Given the description of an element on the screen output the (x, y) to click on. 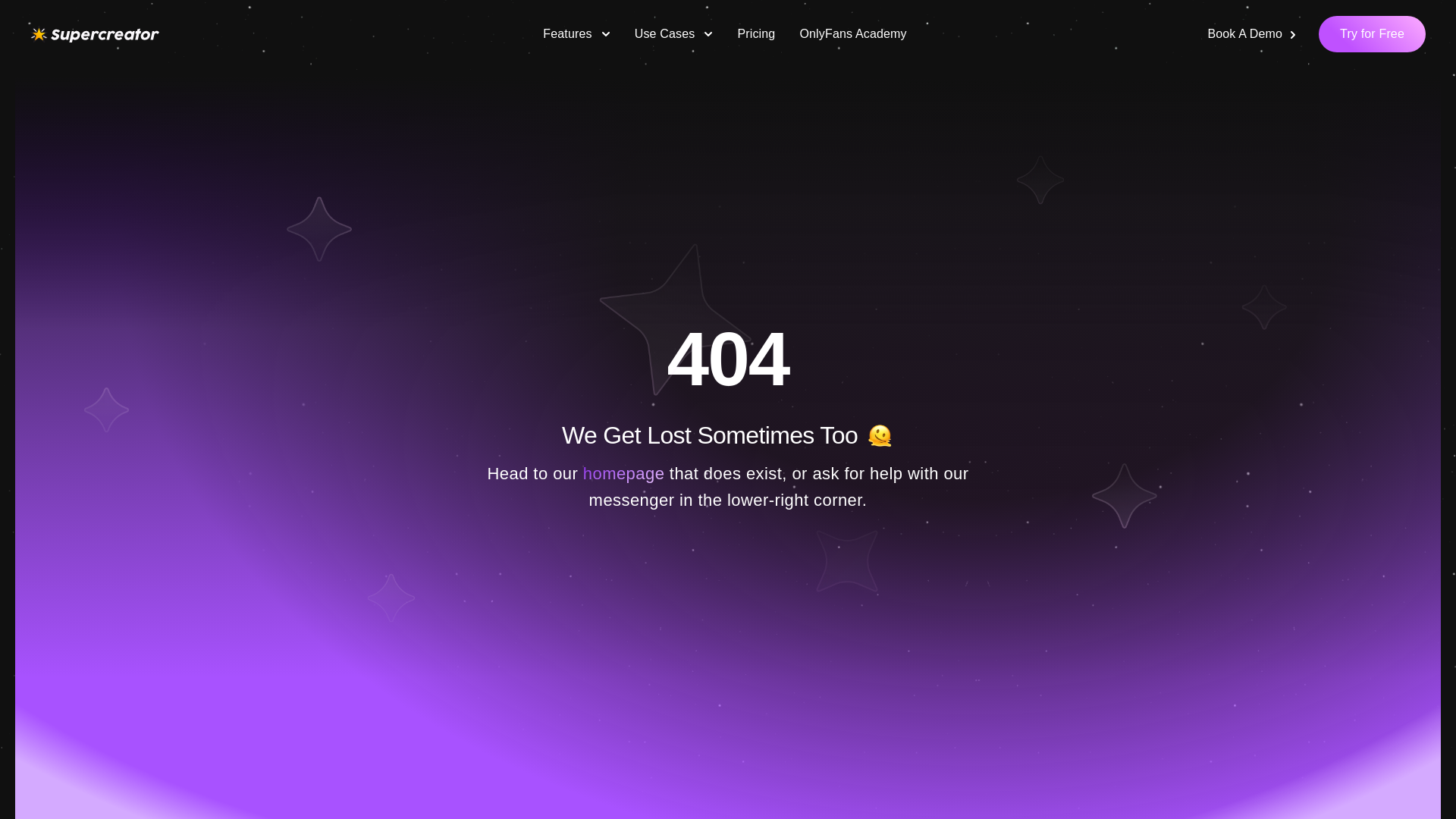
OnlyFans Academy (852, 33)
Book A Demo (1253, 33)
Pricing (756, 33)
homepage (624, 473)
Try for Free (1372, 33)
